Given the description of an element on the screen output the (x, y) to click on. 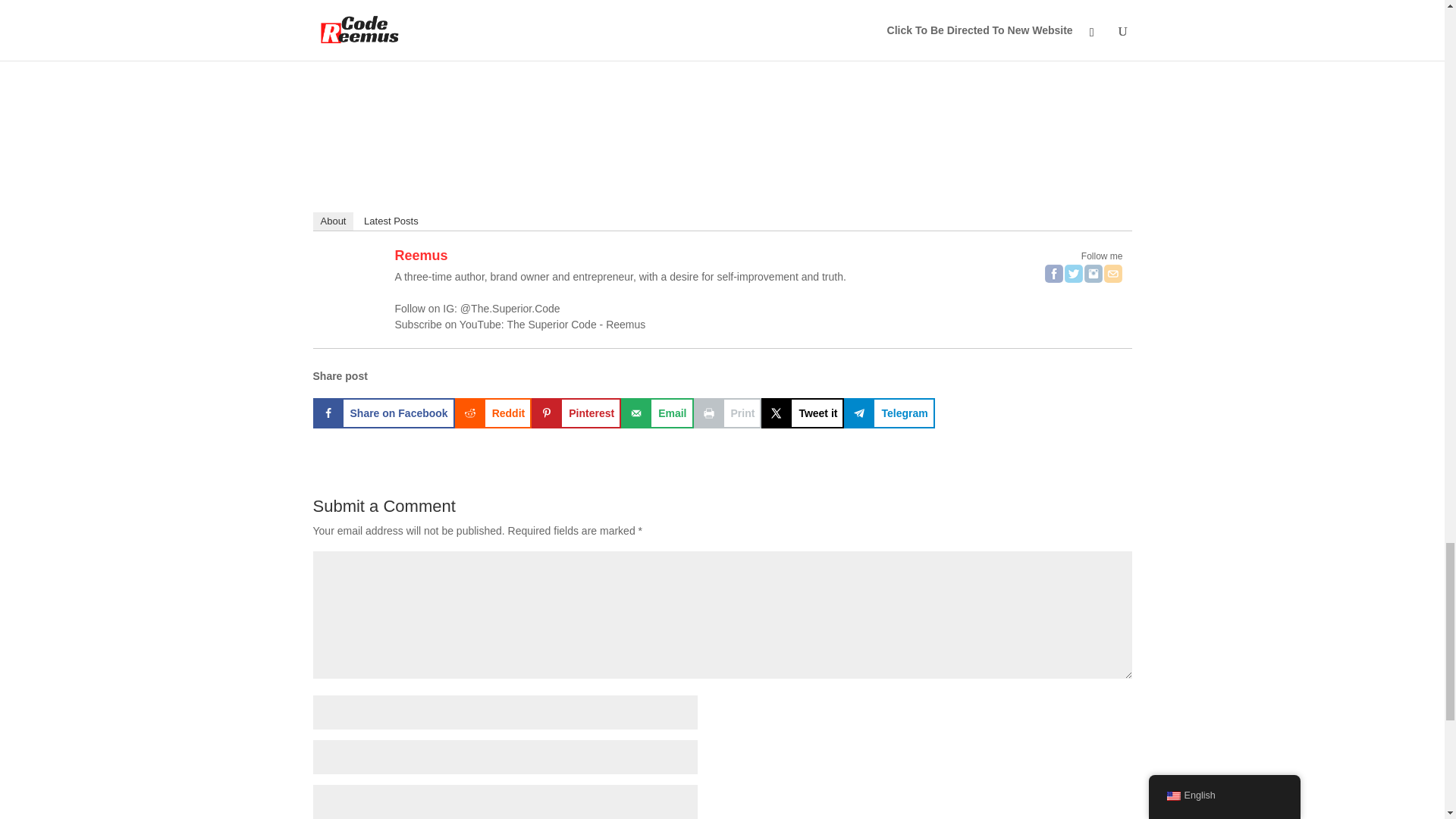
Reemus (420, 255)
VIEW ALL PAST READS (476, 11)
Latest Posts (391, 221)
About (333, 221)
